Given the description of an element on the screen output the (x, y) to click on. 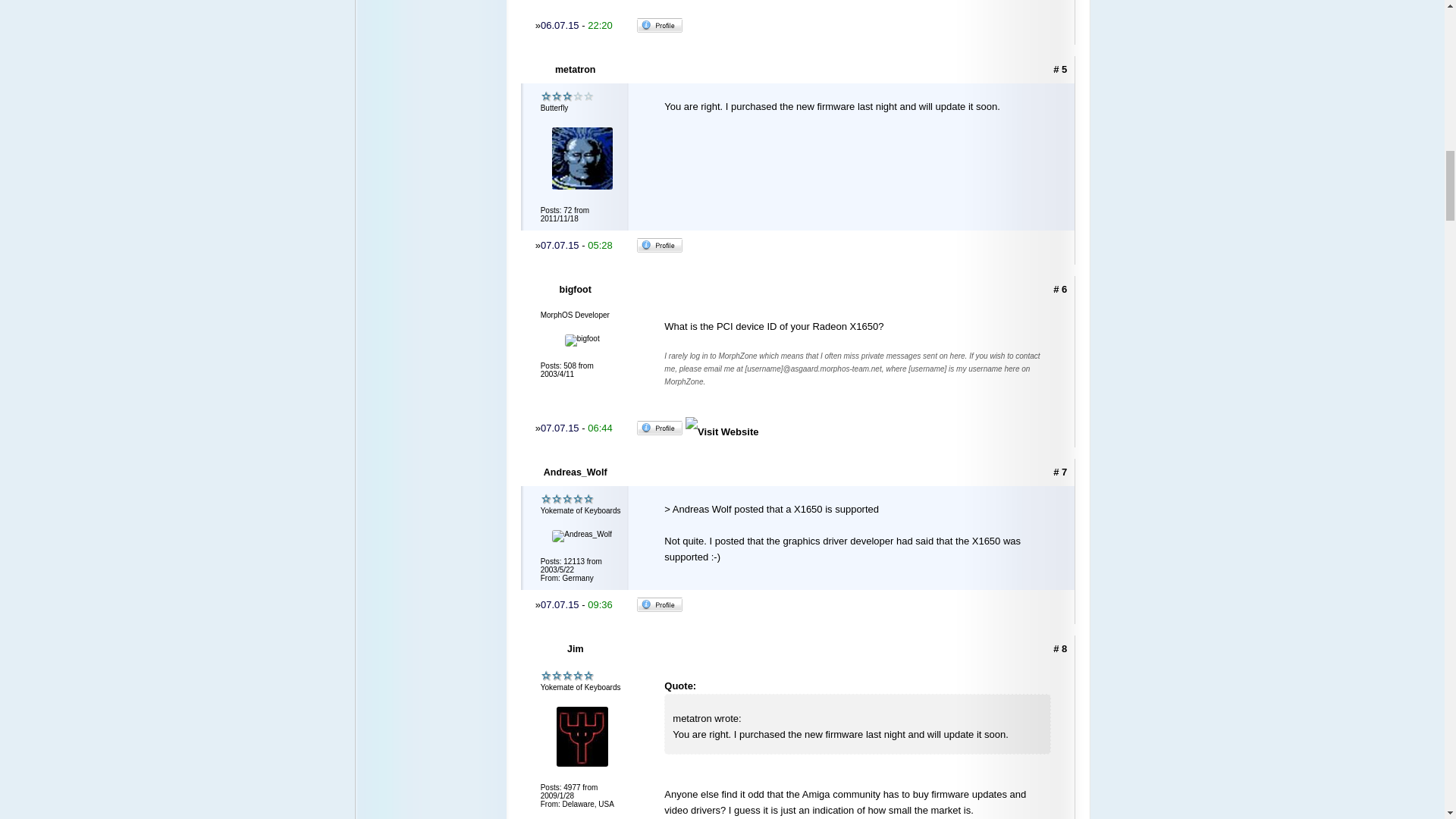
Jim (575, 648)
Butterfly (567, 96)
Show alone this post... (1059, 471)
Yokemate of Keyboards (567, 675)
metatron (575, 69)
Show alone this post... (1059, 288)
Yokemate of Keyboards (567, 499)
Show alone this post... (1059, 648)
Show alone this post... (1059, 69)
bigfoot (575, 289)
